Given the description of an element on the screen output the (x, y) to click on. 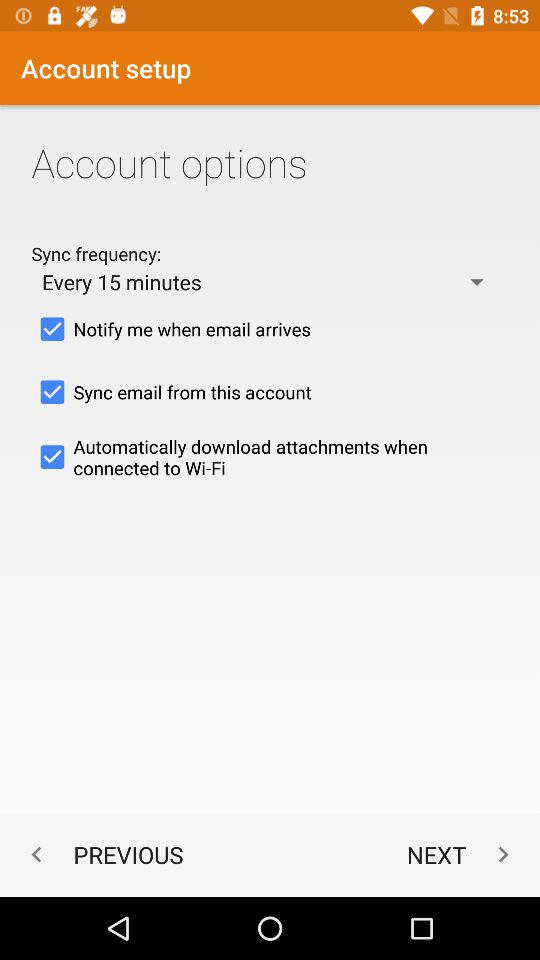
launch the sync email from item (269, 392)
